Given the description of an element on the screen output the (x, y) to click on. 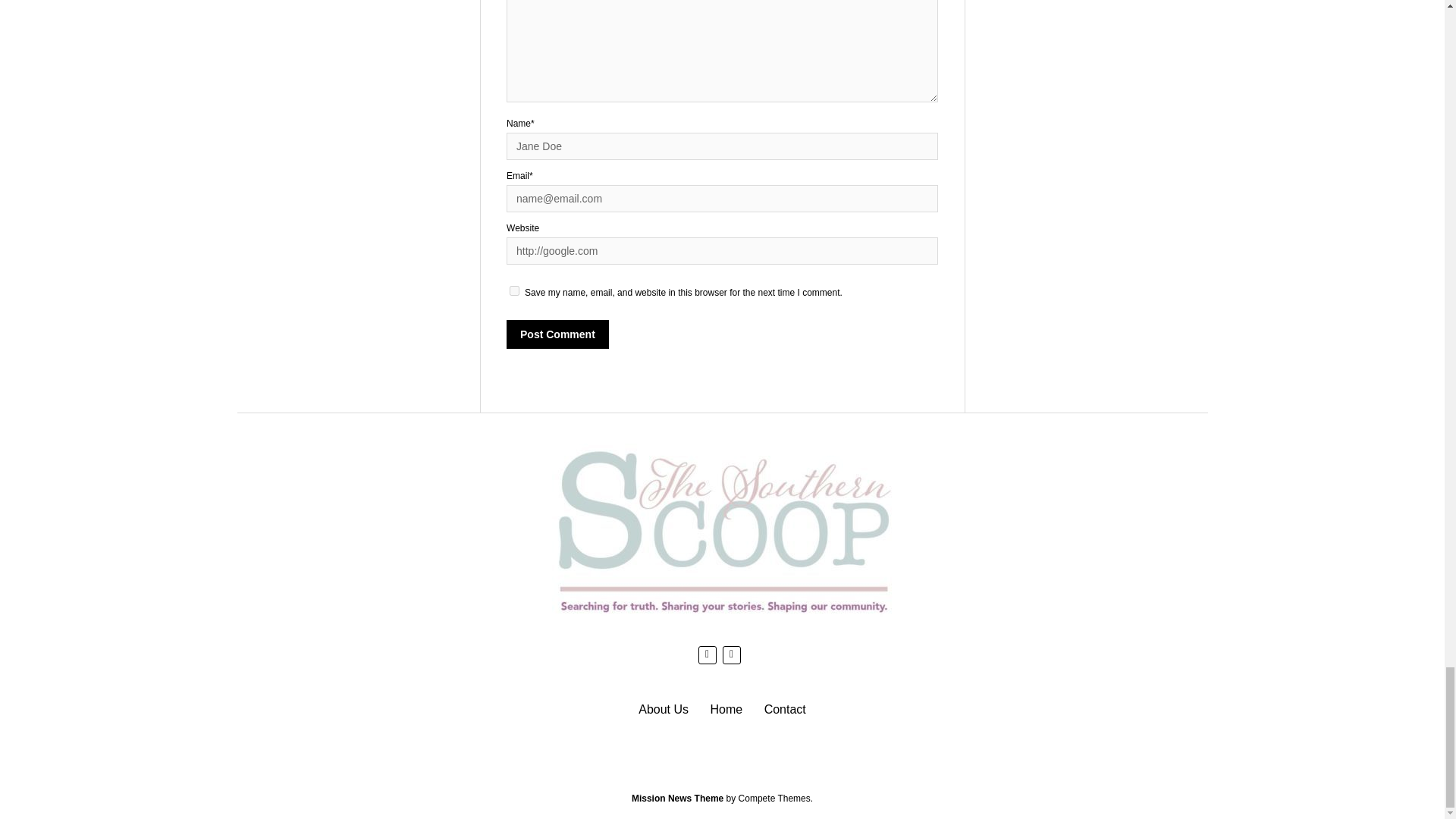
Post Comment (557, 334)
Turning a dream into a reality (663, 708)
yes (514, 290)
